Given the description of an element on the screen output the (x, y) to click on. 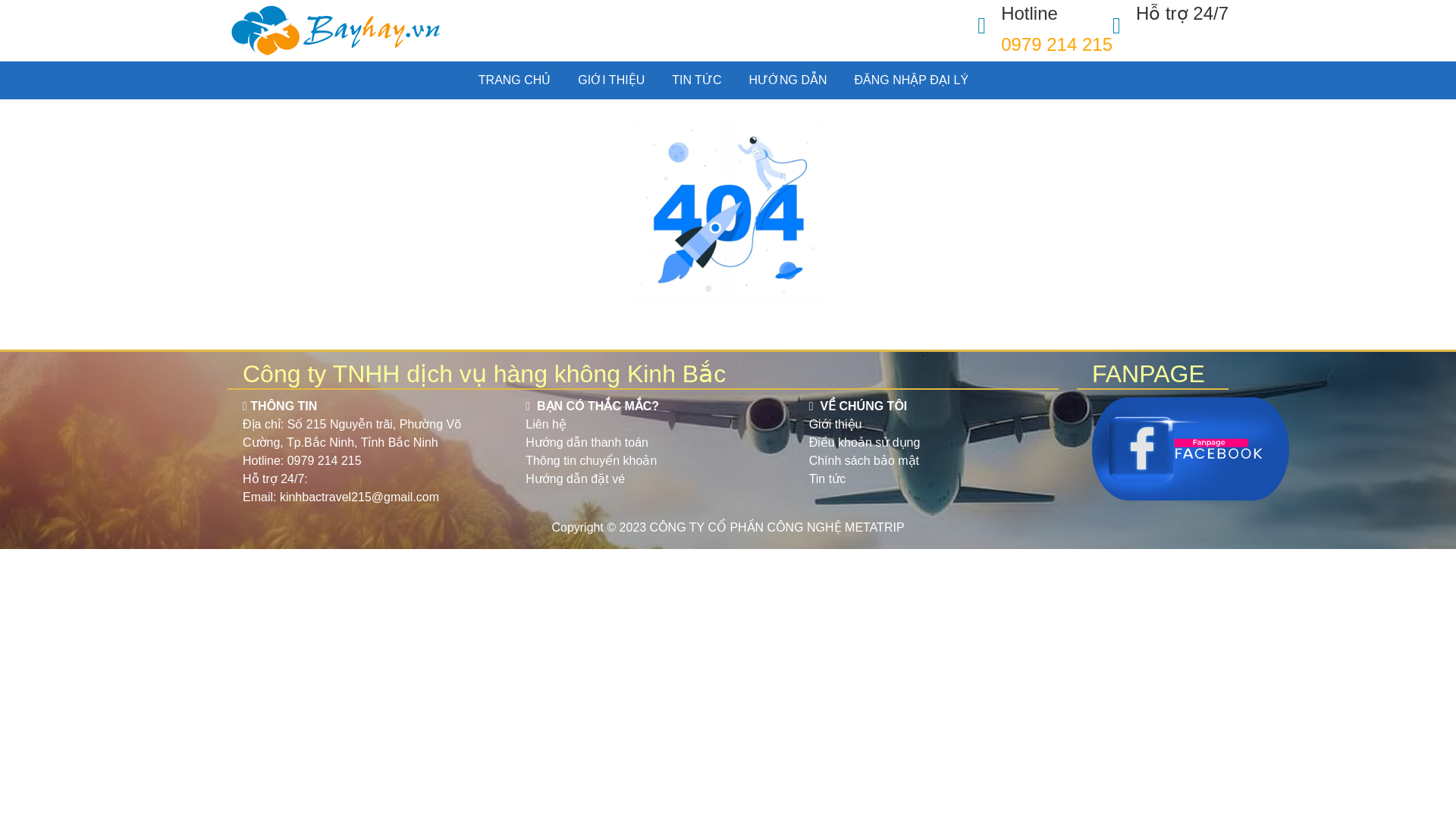
0979 214 215 (1056, 44)
0979 214 215 (323, 460)
